Given the description of an element on the screen output the (x, y) to click on. 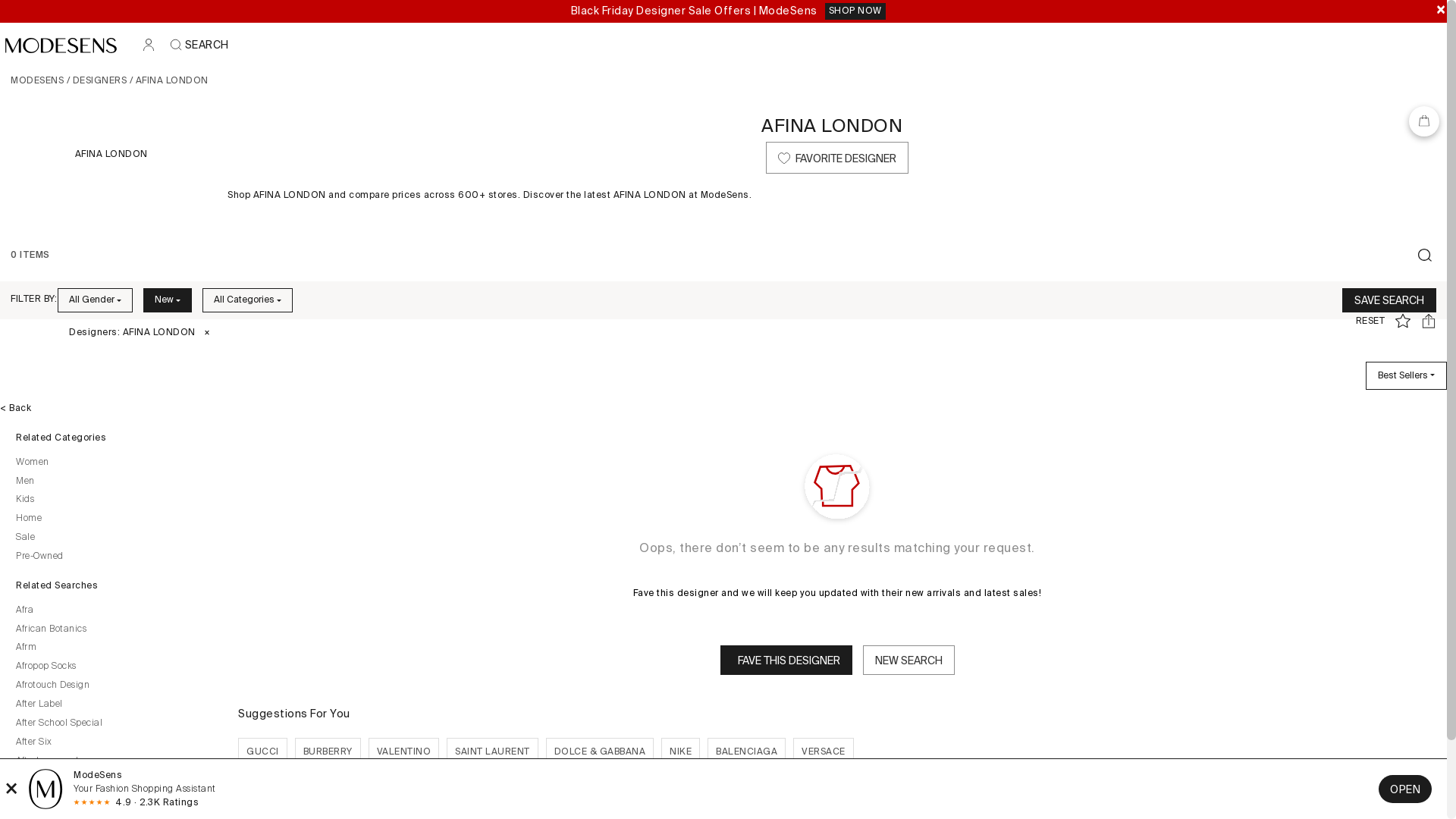
Afterlabel Element type: text (113, 780)
NEW SEARCH Element type: text (908, 659)
MODESENS Element type: text (36, 80)
African Botanics Element type: text (113, 630)
Men Element type: text (113, 482)
OPEN Element type: text (1404, 789)
Sale Element type: text (113, 538)
All Categories Element type: text (247, 300)
Best Sellers Element type: text (1405, 375)
GUCCI Element type: text (262, 751)
DESIGNERS Element type: text (99, 80)
All Gender Element type: text (94, 300)
Home Element type: text (113, 519)
After Label Element type: text (113, 705)
DOLCE & GABBANA Element type: text (600, 751)
FAVE THIS DESIGNER Element type: text (786, 659)
AFINA LONDON Element type: text (831, 126)
Afrotouch Design Element type: text (113, 686)
Pre-Owned Element type: text (113, 557)
VERSACE Element type: text (823, 751)
Afterhomework Element type: text (113, 761)
VALENTINO Element type: text (403, 751)
Afra Element type: text (113, 611)
Kids Element type: text (113, 500)
AFINA LONDON Element type: text (110, 155)
share my search Element type: hover (1433, 320)
Afropop Socks Element type: text (113, 667)
New Element type: text (167, 300)
SAVE SEARCH Element type: text (1389, 300)
my saved searches Element type: hover (1408, 320)
After School Special Element type: text (113, 724)
BURBERRY Element type: text (327, 751)
NIKE Element type: text (680, 751)
SUGGEST MORE Element type: text (837, 791)
After Six Element type: text (113, 742)
BALENCIAGA Element type: text (746, 751)
Afrm Element type: text (113, 648)
Women Element type: text (113, 463)
FAVORITE DESIGNER Element type: text (836, 157)
SAINT LAURENT Element type: text (492, 751)
